Given the description of an element on the screen output the (x, y) to click on. 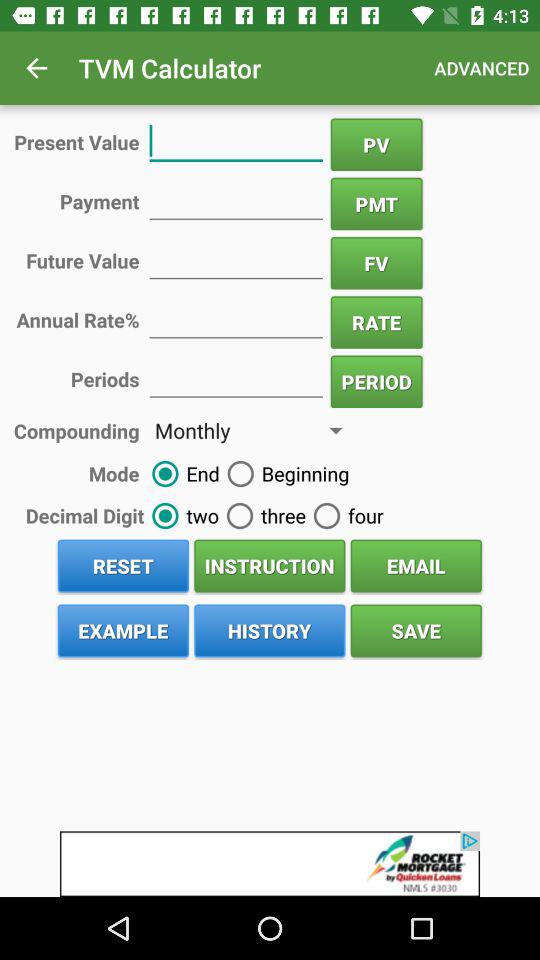
write period (236, 378)
